Given the description of an element on the screen output the (x, y) to click on. 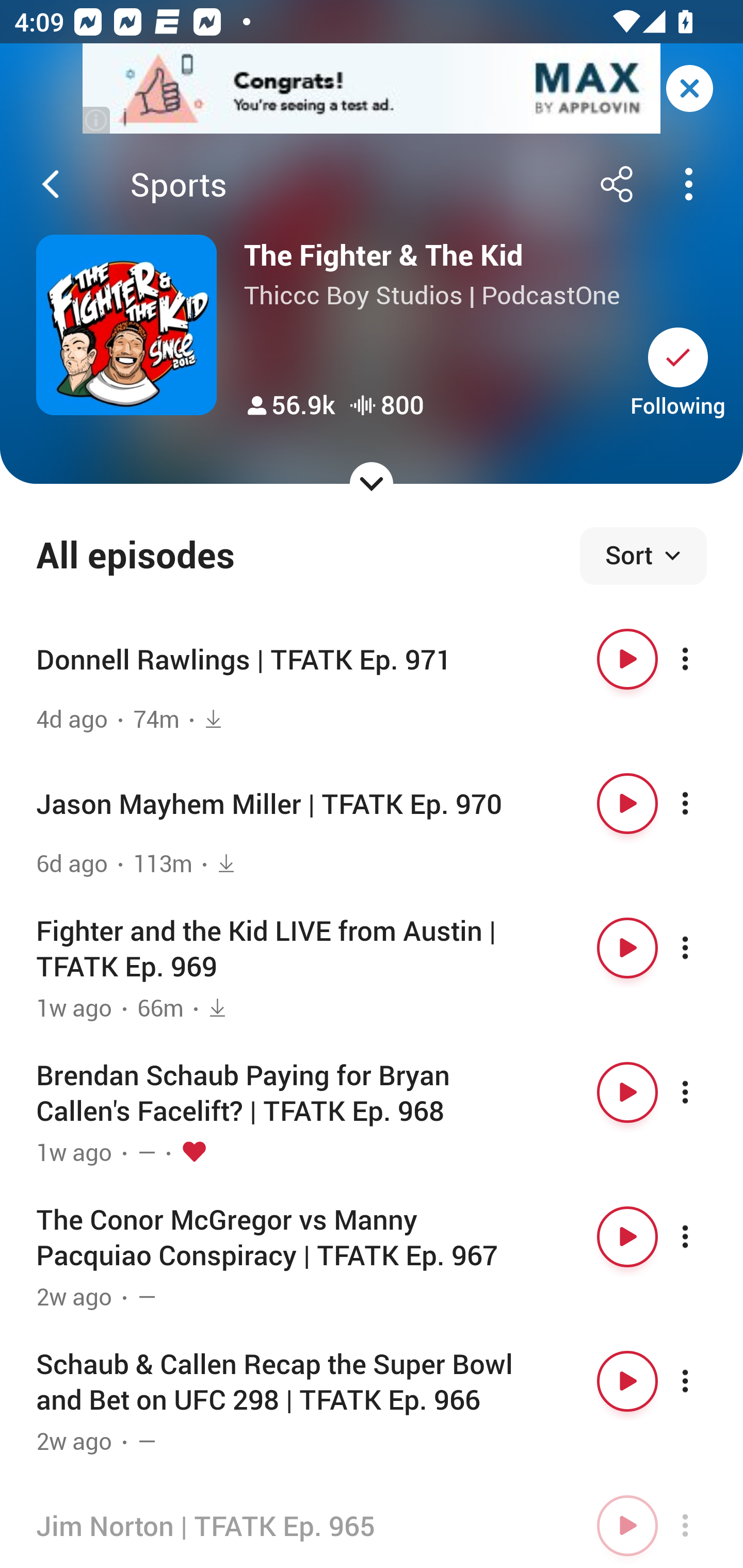
app-monetization (371, 88)
(i) (96, 119)
Back (50, 184)
Unsubscribe button (677, 357)
Sort episodes Sort (643, 555)
Play button (627, 659)
More options (703, 659)
Play button (627, 803)
More options (703, 803)
Play button (627, 947)
More options (703, 947)
Play button (627, 1092)
More options (703, 1092)
Play button (627, 1236)
More options (703, 1236)
Play button (627, 1381)
More options (703, 1381)
Play button (627, 1525)
More options (703, 1525)
